Given the description of an element on the screen output the (x, y) to click on. 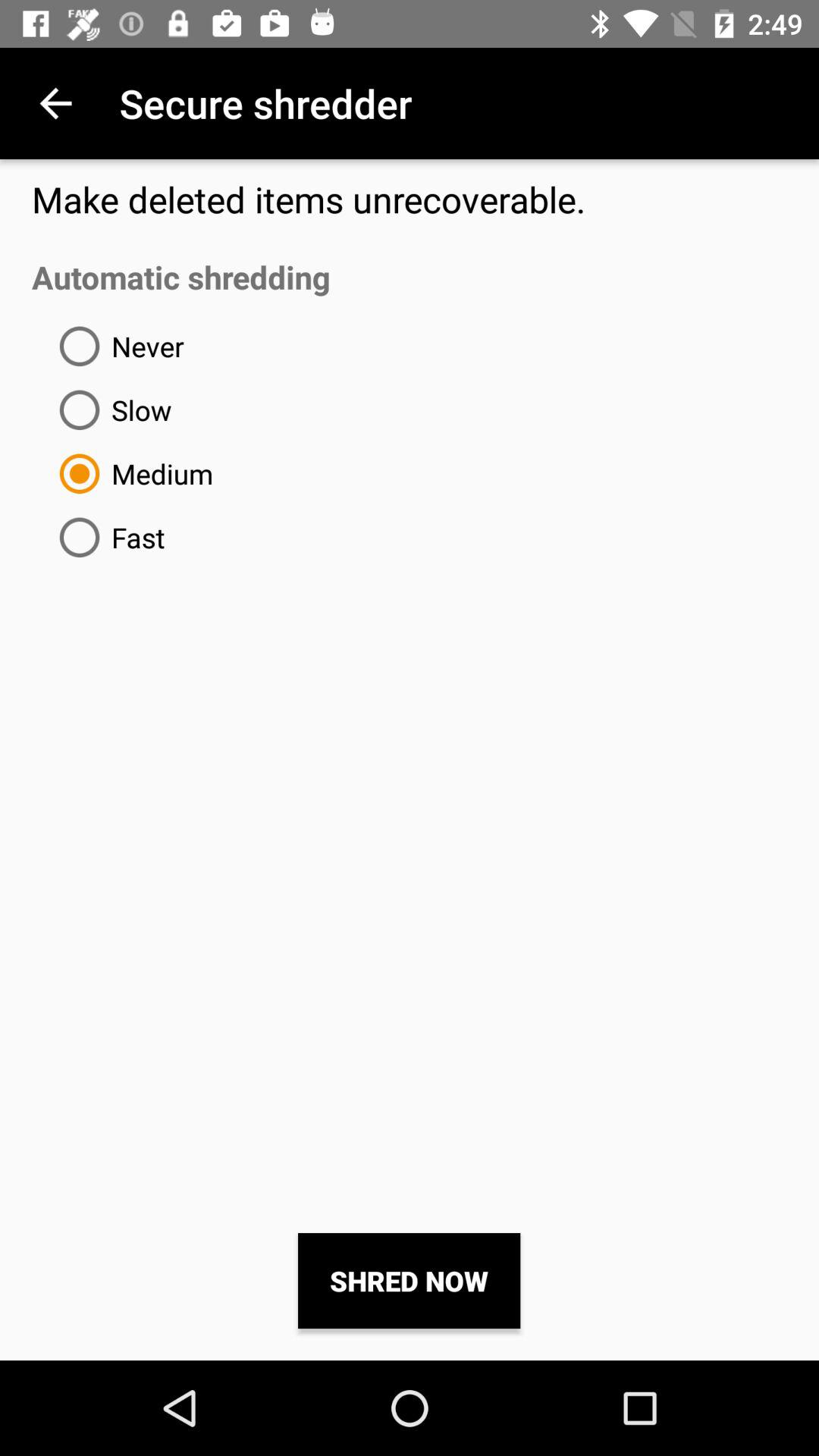
turn on item below the never icon (109, 409)
